Given the description of an element on the screen output the (x, y) to click on. 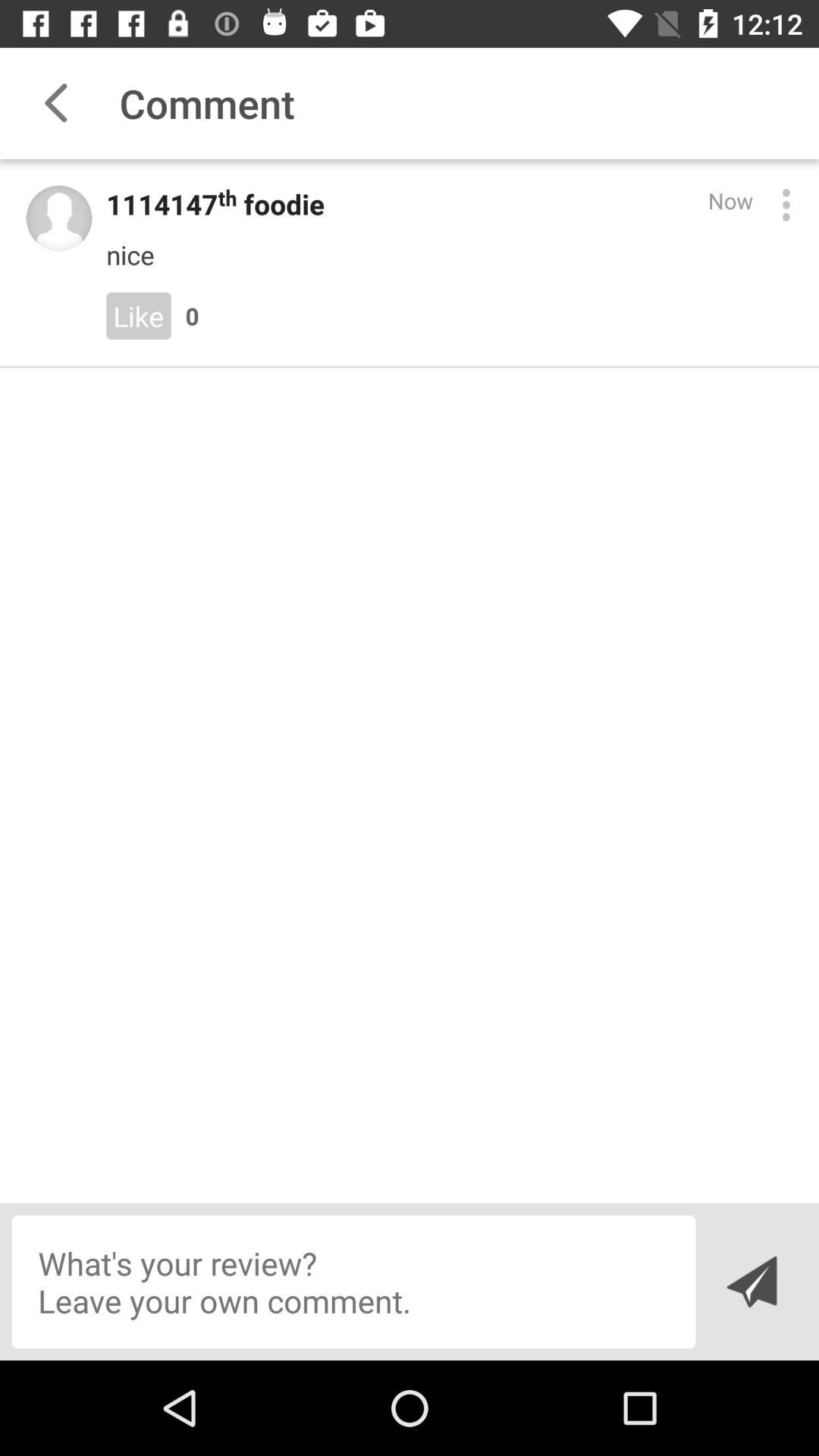
user icon (59, 218)
